Given the description of an element on the screen output the (x, y) to click on. 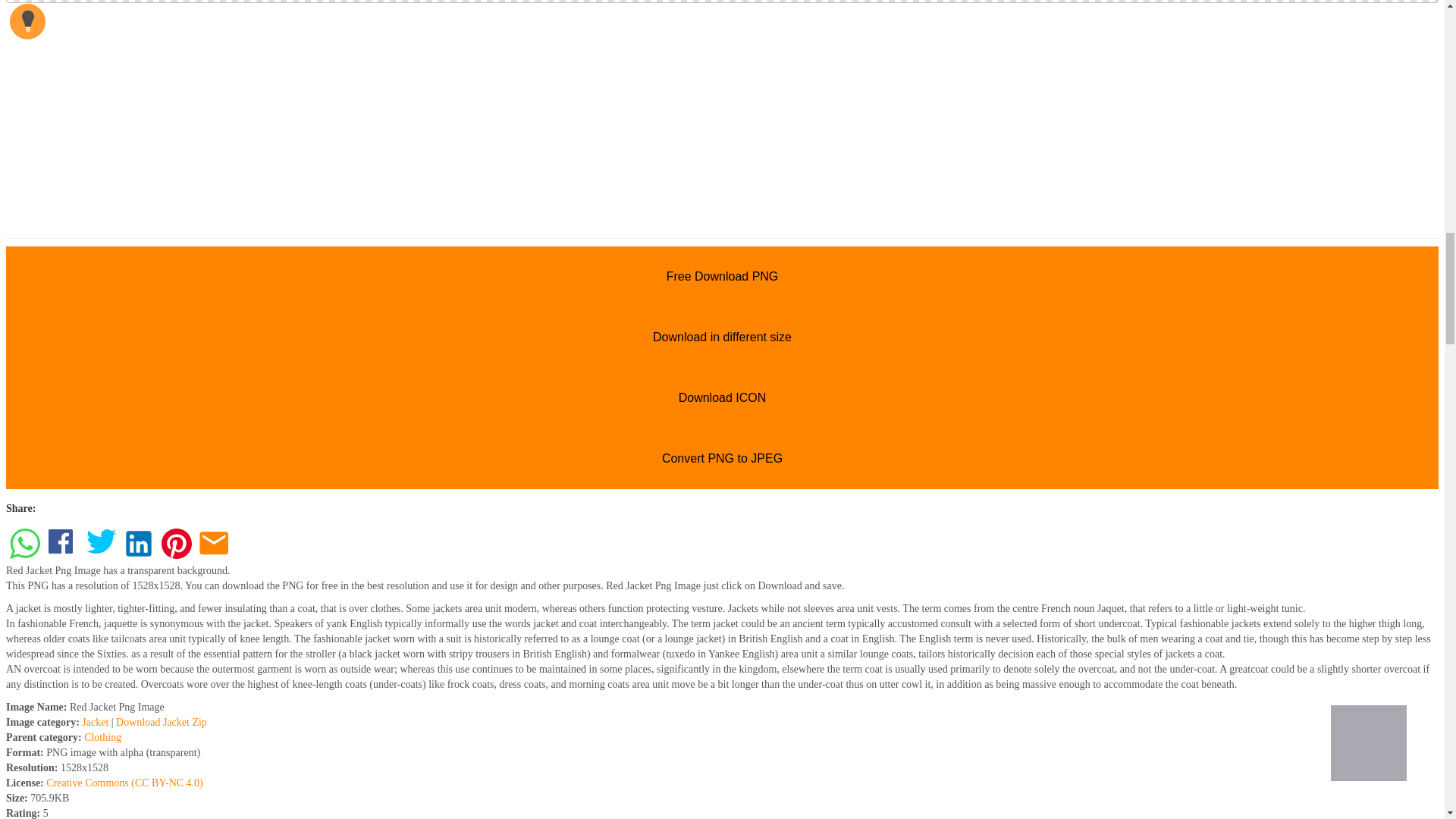
Jacket (94, 722)
